Given the description of an element on the screen output the (x, y) to click on. 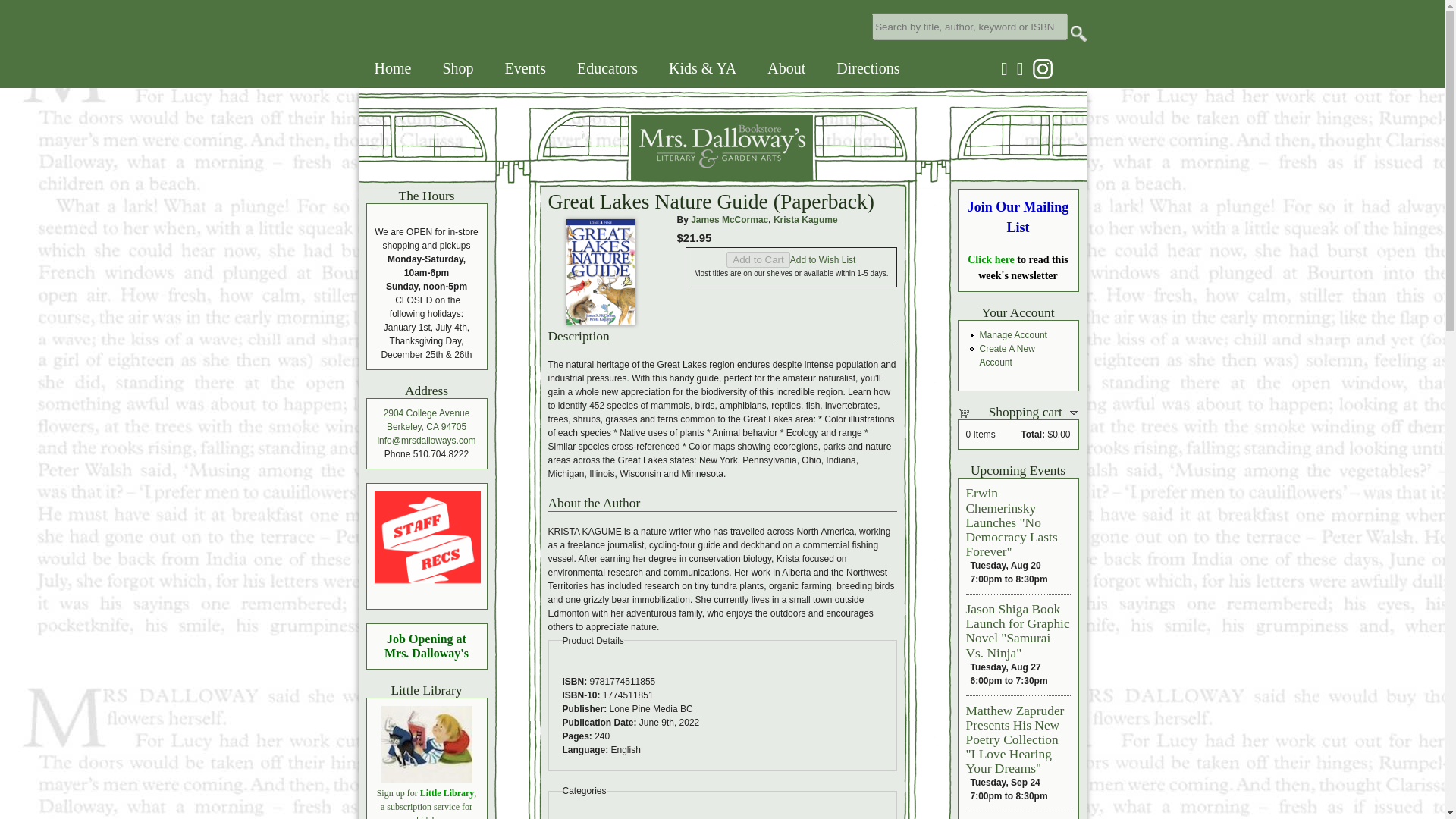
Krista Kagume (805, 219)
Enter the terms you wish to search for. (969, 26)
Home (585, 176)
Add to Cart (757, 259)
Home (392, 68)
Events (524, 68)
James McCormac (729, 219)
Directions (867, 68)
Shop (456, 68)
